Given the description of an element on the screen output the (x, y) to click on. 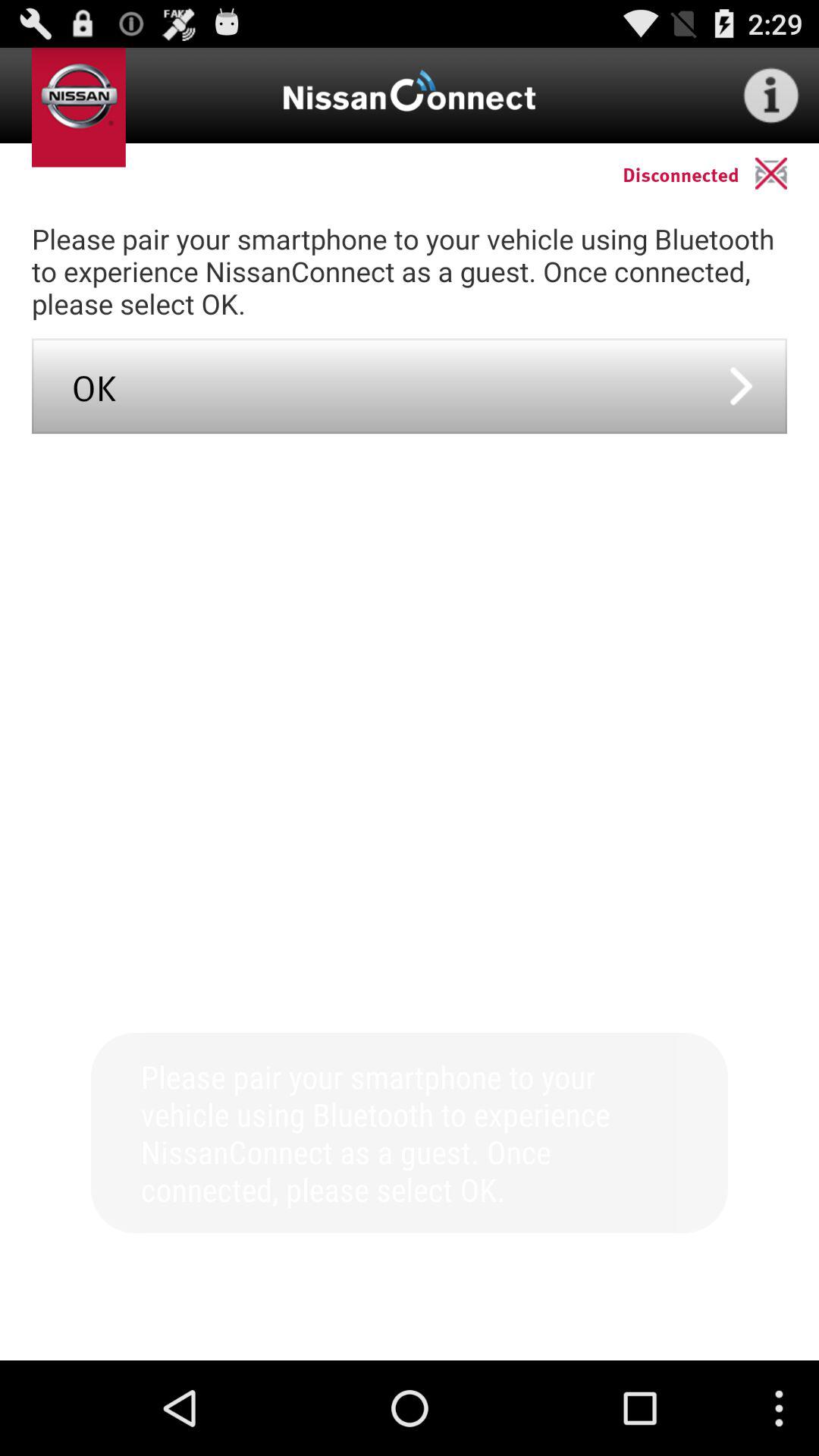
click for information on how to use app (771, 95)
